Given the description of an element on the screen output the (x, y) to click on. 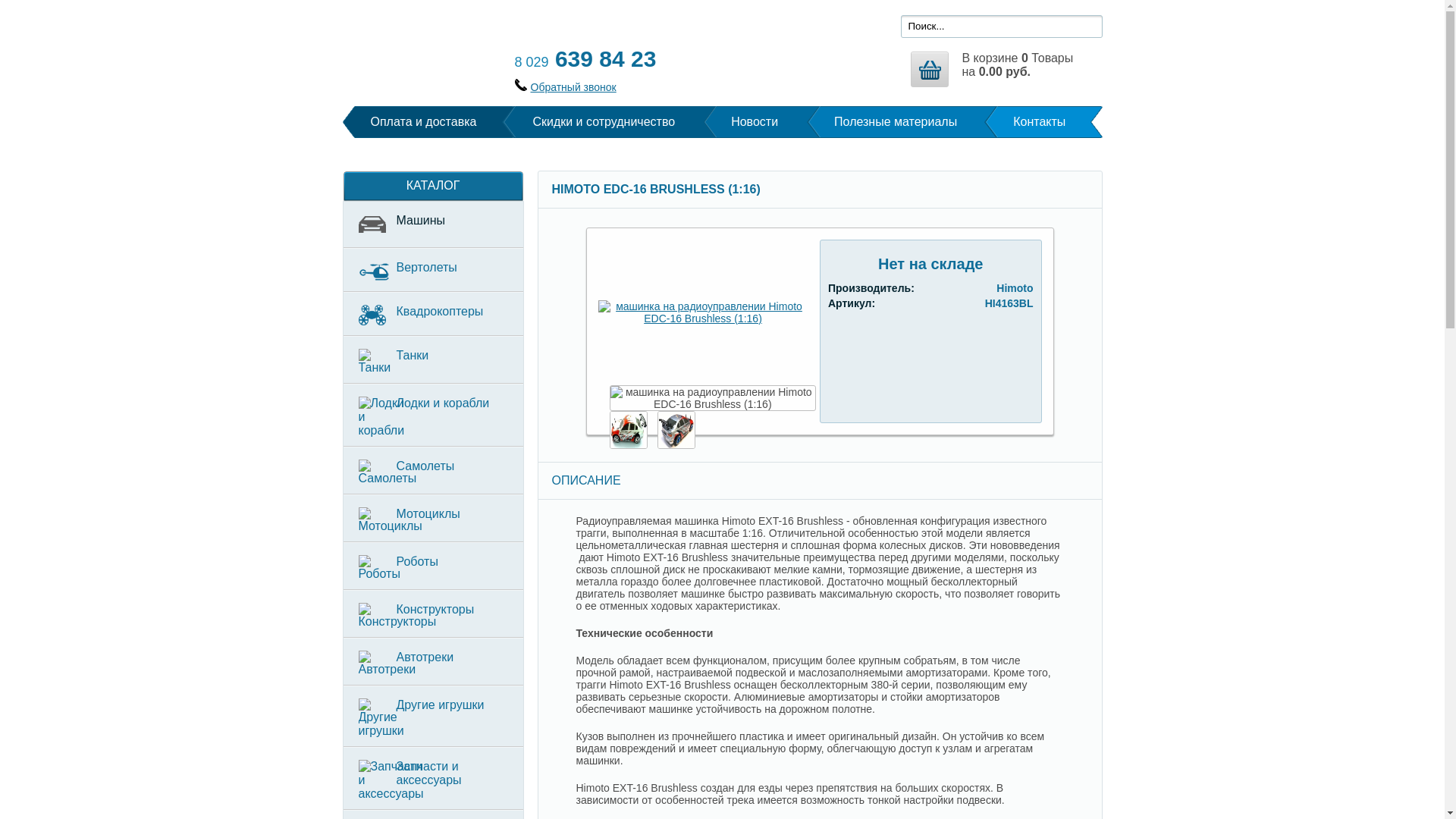
8 029 639 84 23 Element type: text (584, 58)
8 029 639 84 23 Element type: text (584, 59)
